Given the description of an element on the screen output the (x, y) to click on. 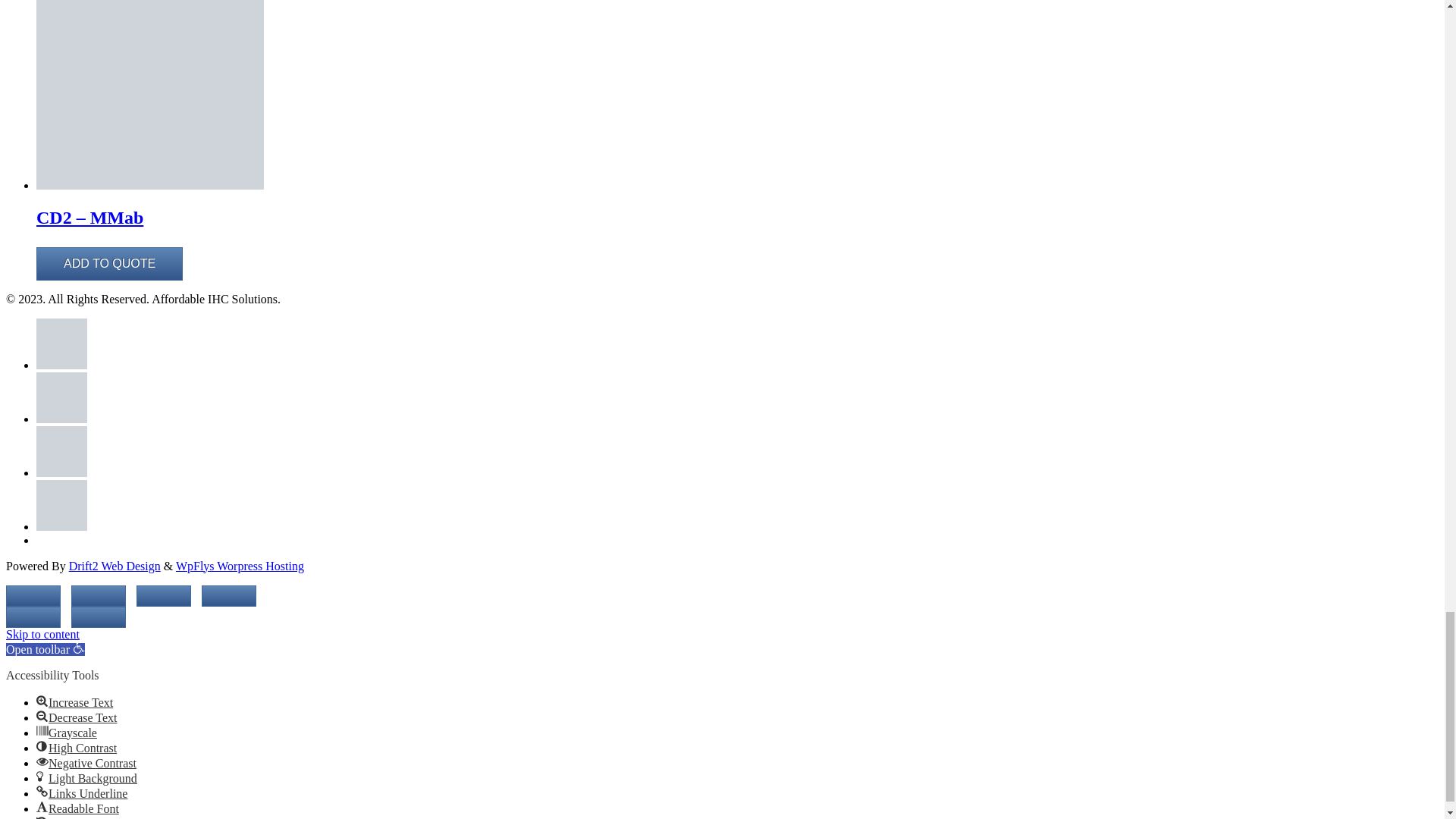
Accessibility Tools (44, 649)
Increase Text (42, 700)
Links Underline (42, 791)
Negative Contrast (42, 761)
Decrease Text (42, 715)
Light Background (42, 776)
High Contrast (42, 746)
Accessibility Tools (78, 647)
Readable Font (42, 806)
Grayscale (42, 730)
